Given the description of an element on the screen output the (x, y) to click on. 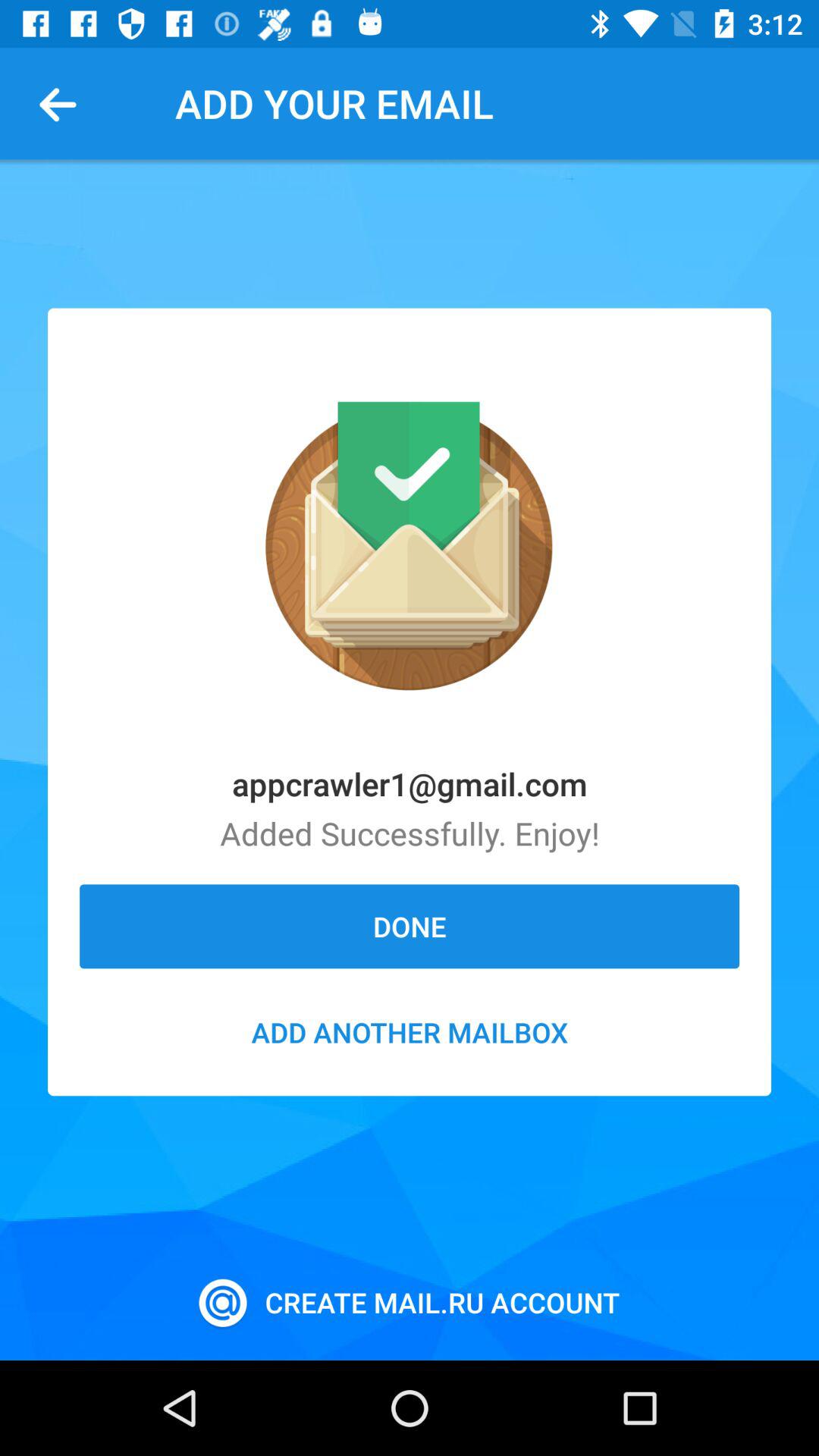
open the add another mailbox (409, 1032)
